Given the description of an element on the screen output the (x, y) to click on. 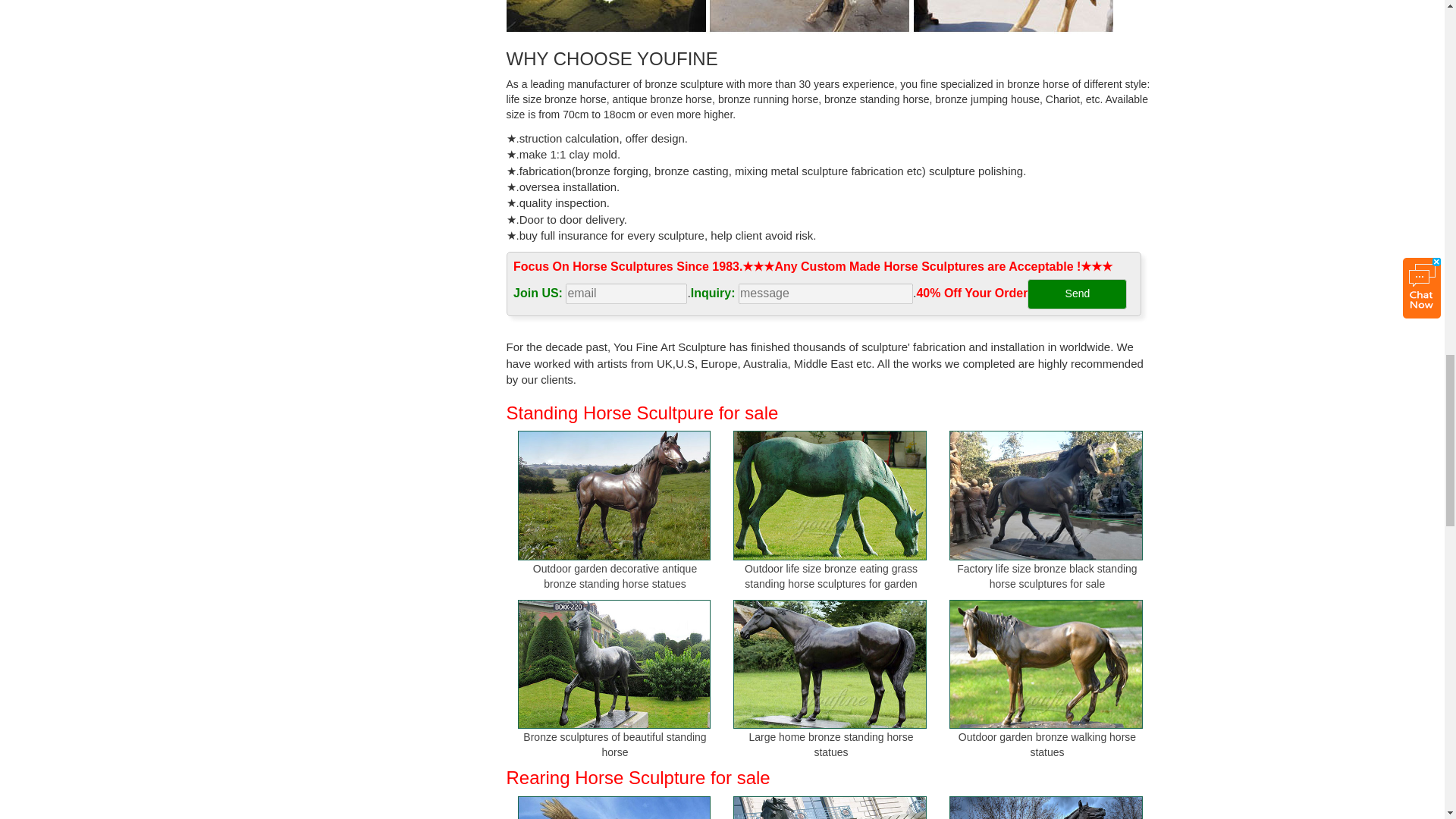
Send (1076, 294)
Send (1076, 294)
